Given the description of an element on the screen output the (x, y) to click on. 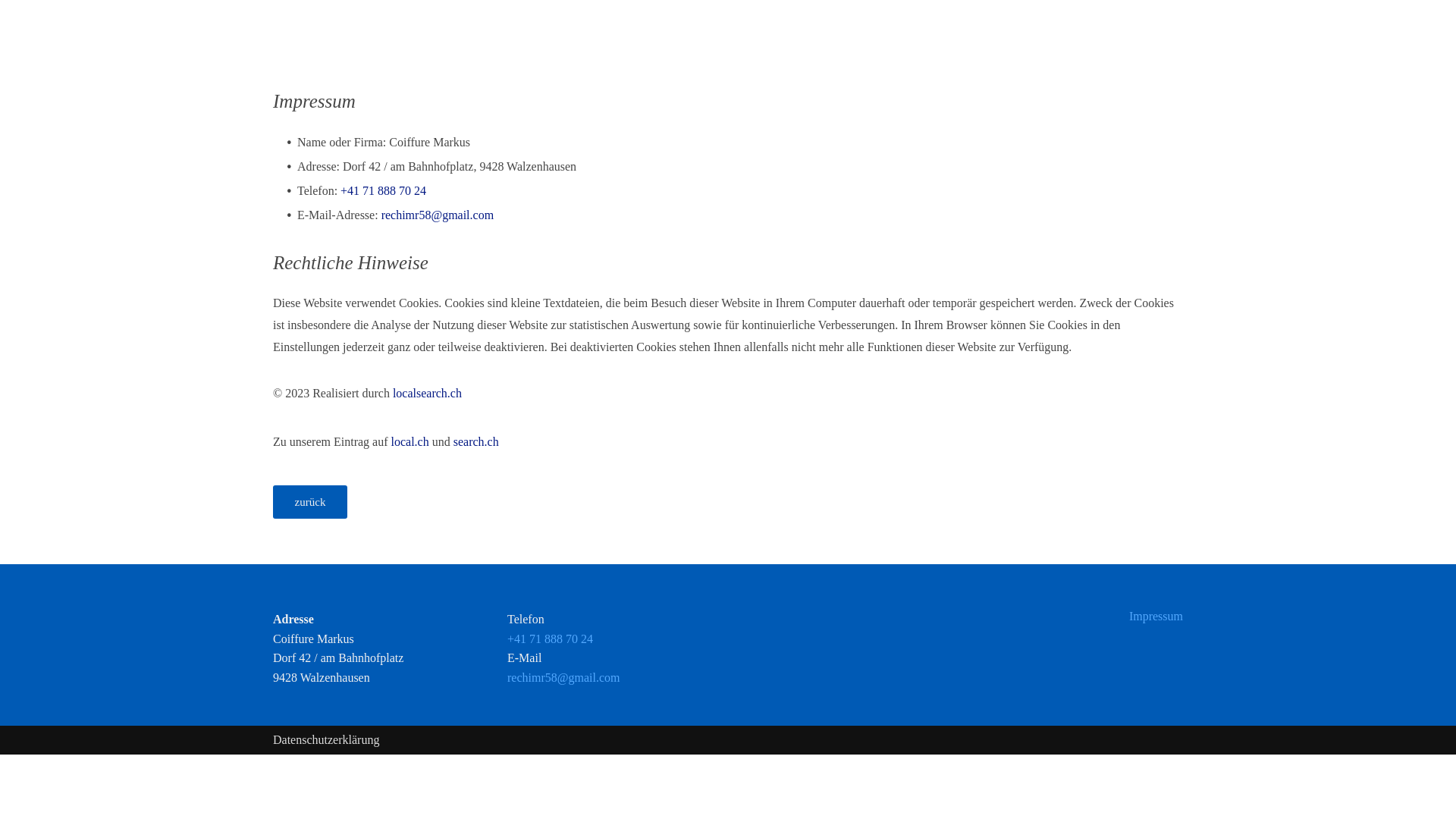
localsearch.ch Element type: text (426, 392)
local.ch Element type: text (410, 441)
rechimr58@gmail.com Element type: text (437, 214)
+41 71 888 70 24 Element type: text (383, 190)
Impressum Element type: text (1156, 615)
rechimr58@gmail.com Element type: text (563, 677)
+41 71 888 70 24 Element type: text (550, 638)
search.ch Element type: text (475, 441)
